Given the description of an element on the screen output the (x, y) to click on. 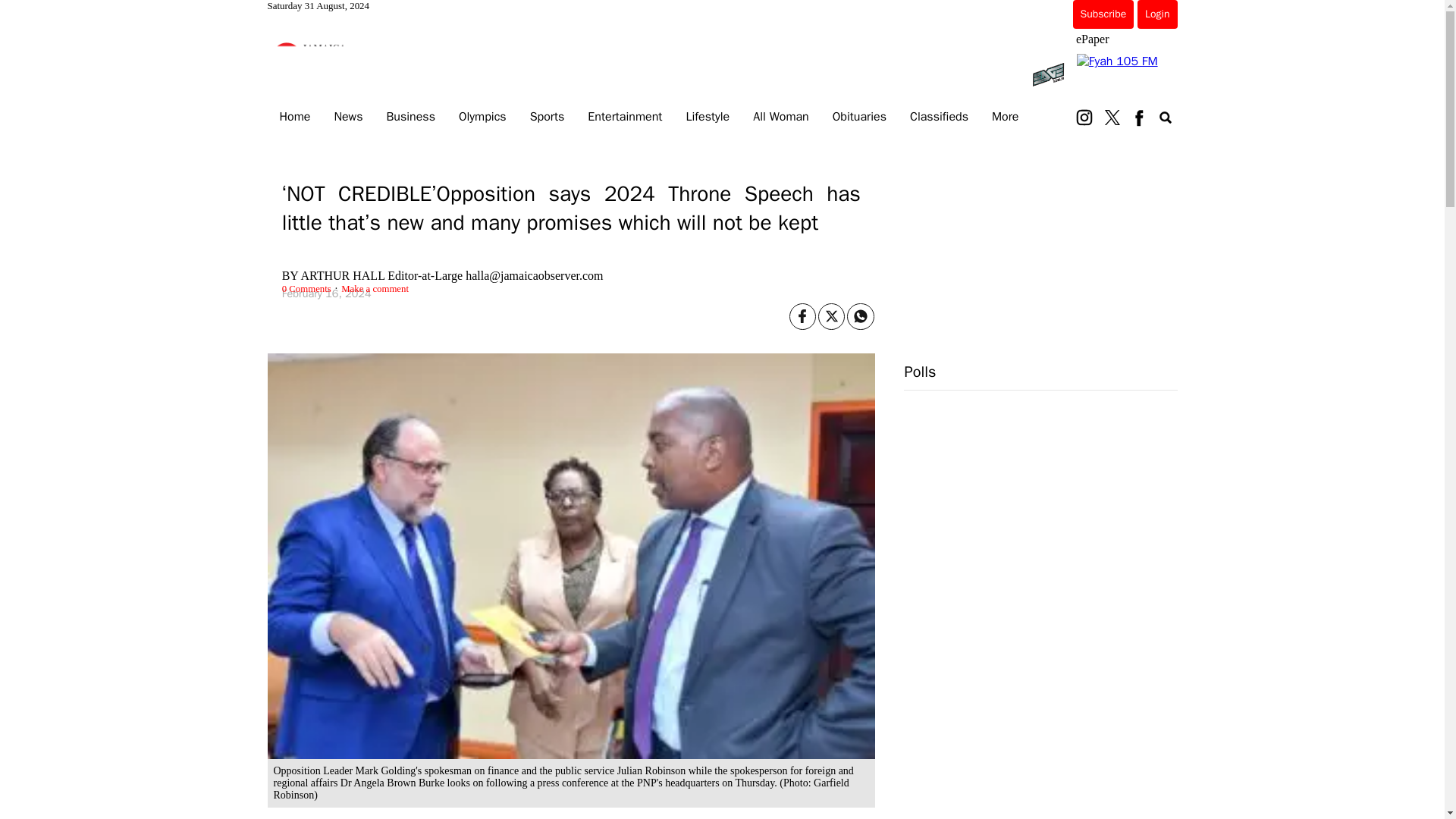
ePaper (1092, 38)
Subscribe (1103, 14)
Login (1156, 14)
